Given the description of an element on the screen output the (x, y) to click on. 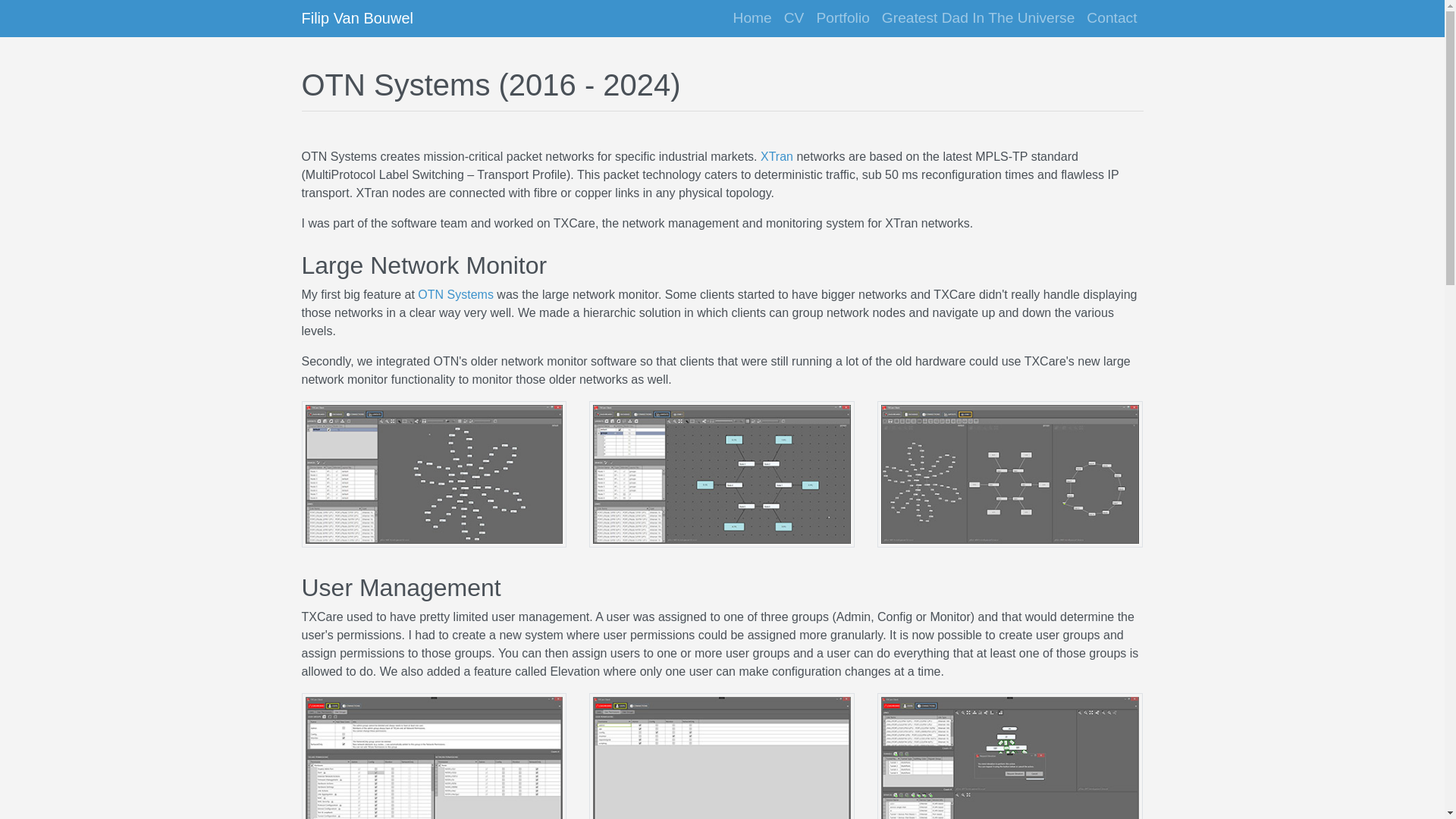
Portfolio (842, 18)
Greatest Dad In The Universe (978, 18)
CV (793, 18)
Filip Van Bouwel (357, 18)
XTran (776, 155)
Home (751, 18)
OTN Systems (455, 294)
Contact (1111, 18)
